Given the description of an element on the screen output the (x, y) to click on. 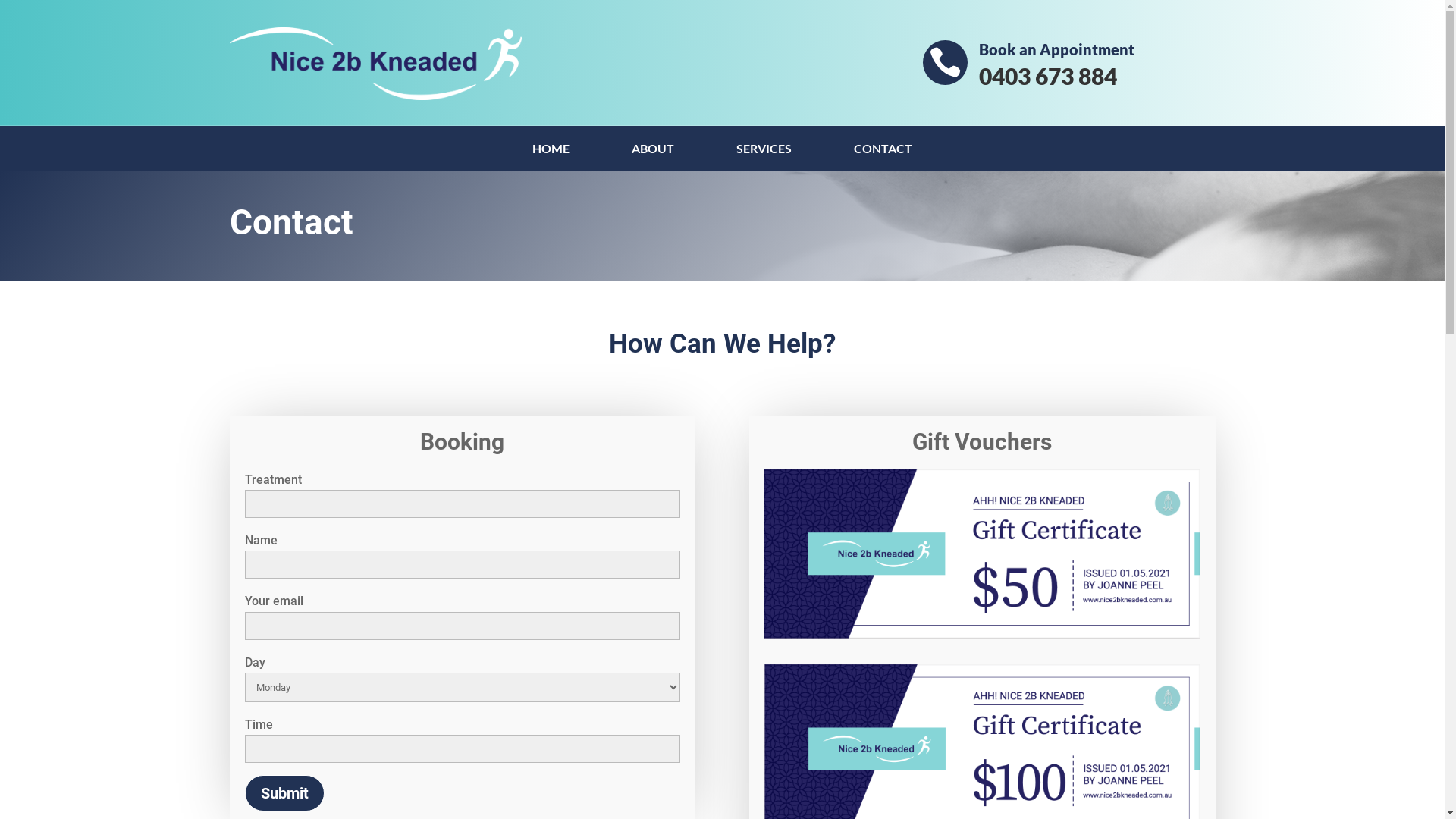
Submit Element type: text (283, 793)
Nice-2b-Kneaded-Logo-navy-and-white Element type: hover (375, 63)
Nice 2B Kneaded Gift Voucher $50 Element type: hover (981, 553)
HOME Element type: text (550, 151)
CONTACT Element type: text (883, 151)
ABOUT Element type: text (652, 151)
SERVICES Element type: text (763, 151)
0403 673 884 Element type: text (1048, 75)
